Given the description of an element on the screen output the (x, y) to click on. 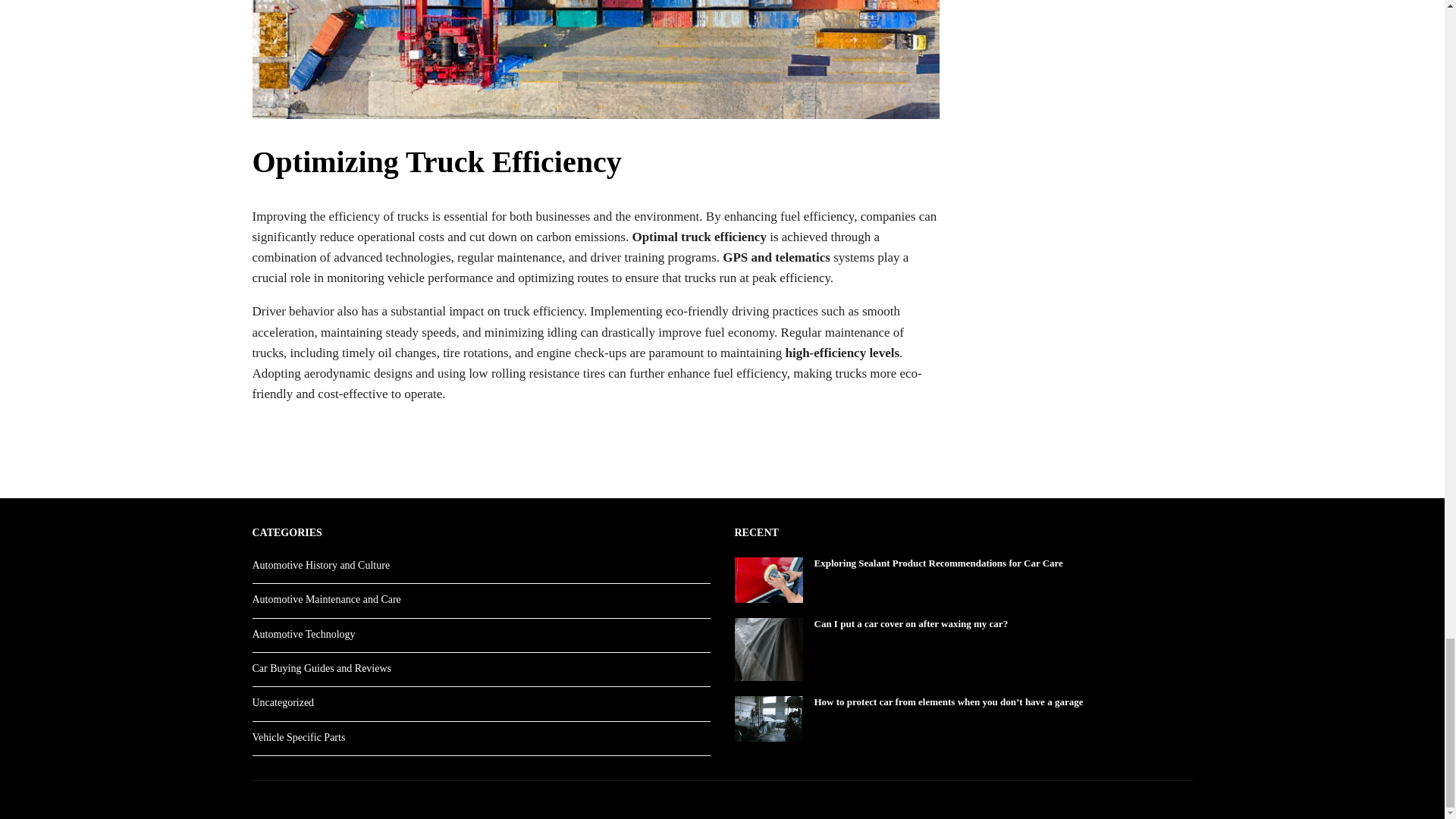
Automotive History and Culture (320, 564)
Vehicle Specific Parts (298, 737)
Car Buying Guides and Reviews (321, 668)
Uncategorized (282, 702)
Exploring Sealant Product Recommendations for Car Care (962, 563)
Automotive Technology (303, 633)
RECENT (755, 532)
Automotive Maintenance and Care (325, 599)
